Given the description of an element on the screen output the (x, y) to click on. 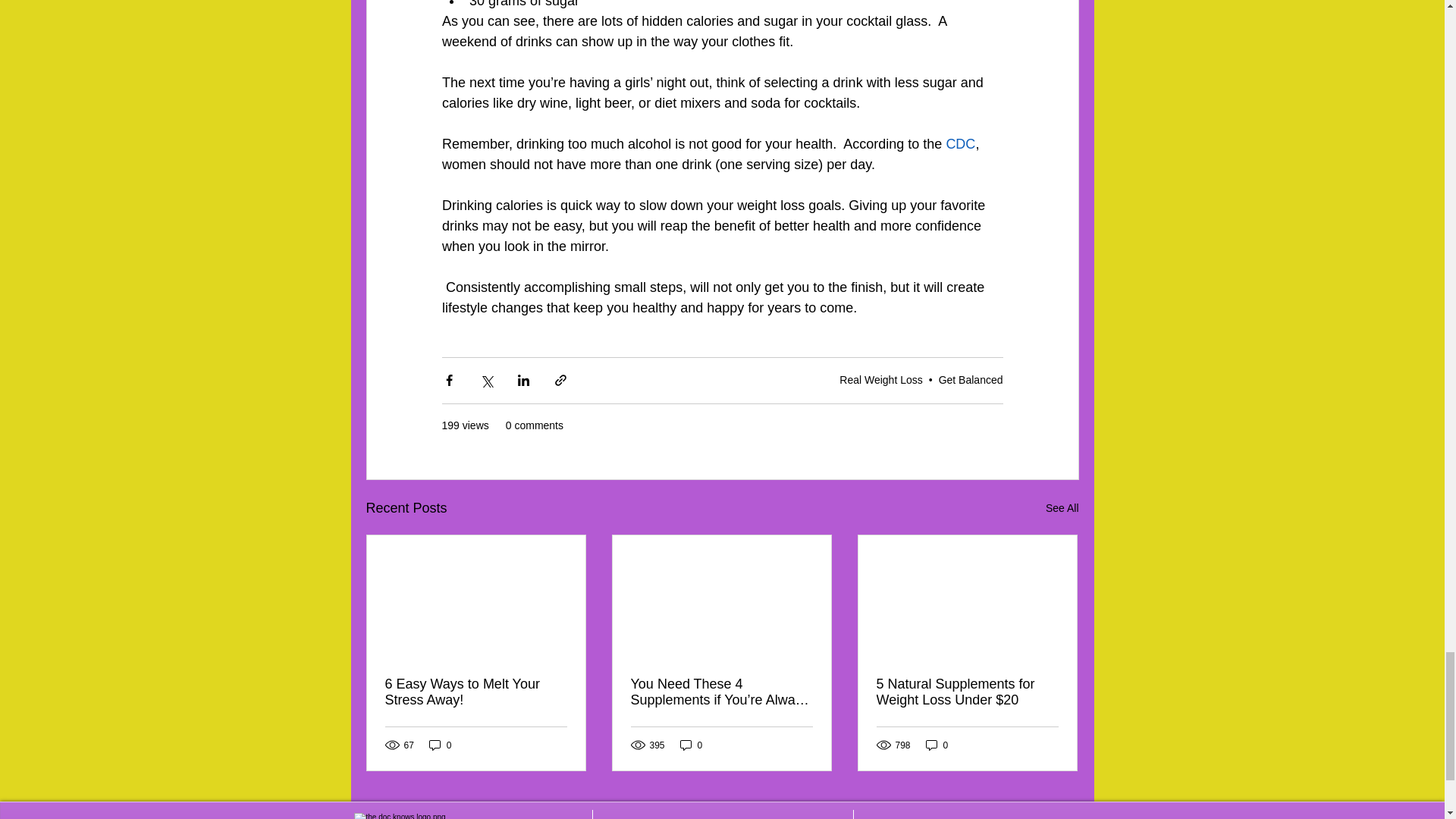
See All (1061, 508)
6 Easy Ways to Melt Your Stress Away! (476, 692)
Real Weight Loss (880, 379)
0 (440, 744)
0 (937, 744)
CDC (959, 144)
Get Balanced (971, 379)
0 (691, 744)
